Given the description of an element on the screen output the (x, y) to click on. 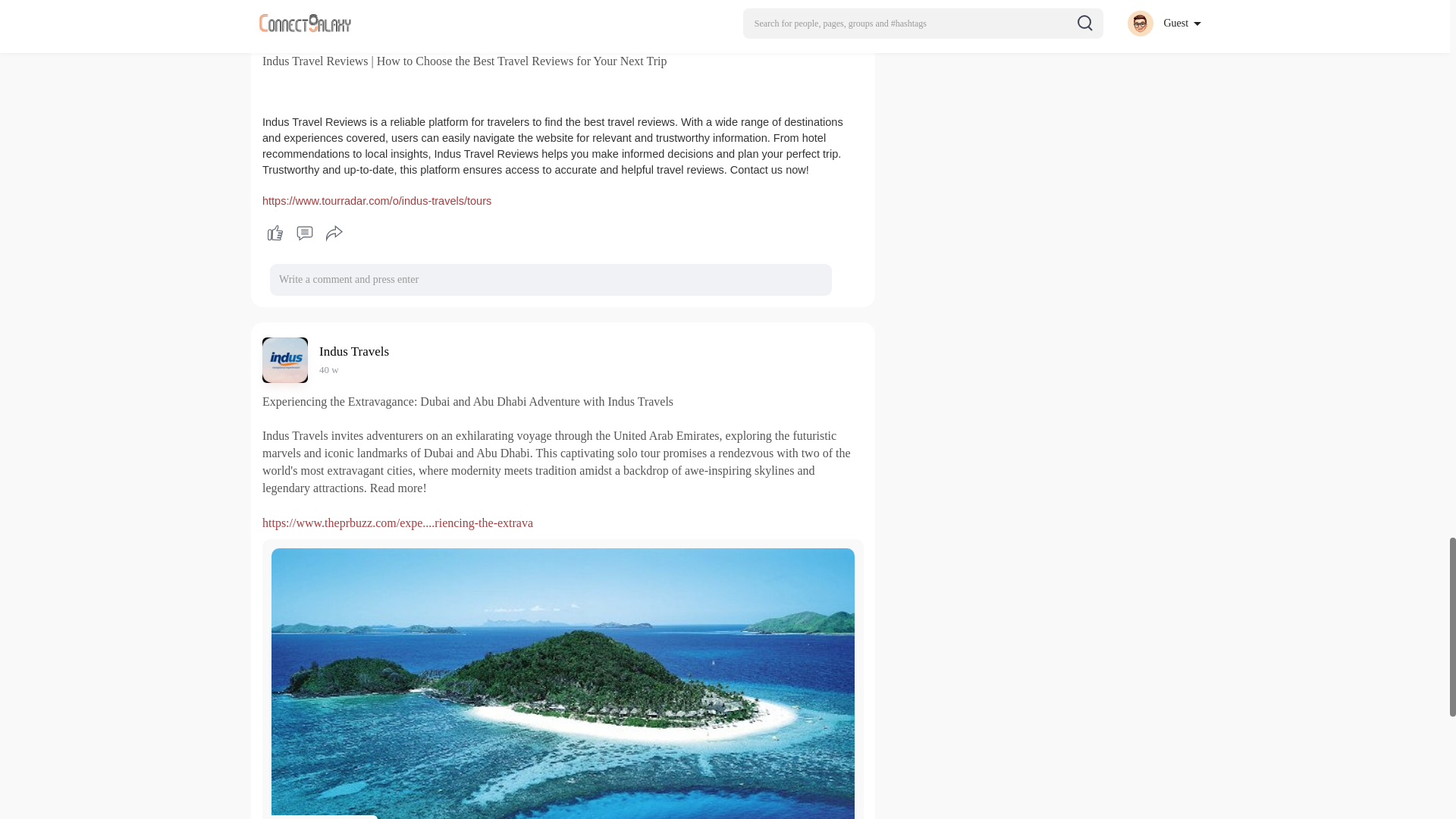
Indus Travels (356, 11)
Indus Travels (356, 350)
40 w (328, 369)
Share (334, 233)
Comments (304, 233)
39 w (328, 30)
